Given the description of an element on the screen output the (x, y) to click on. 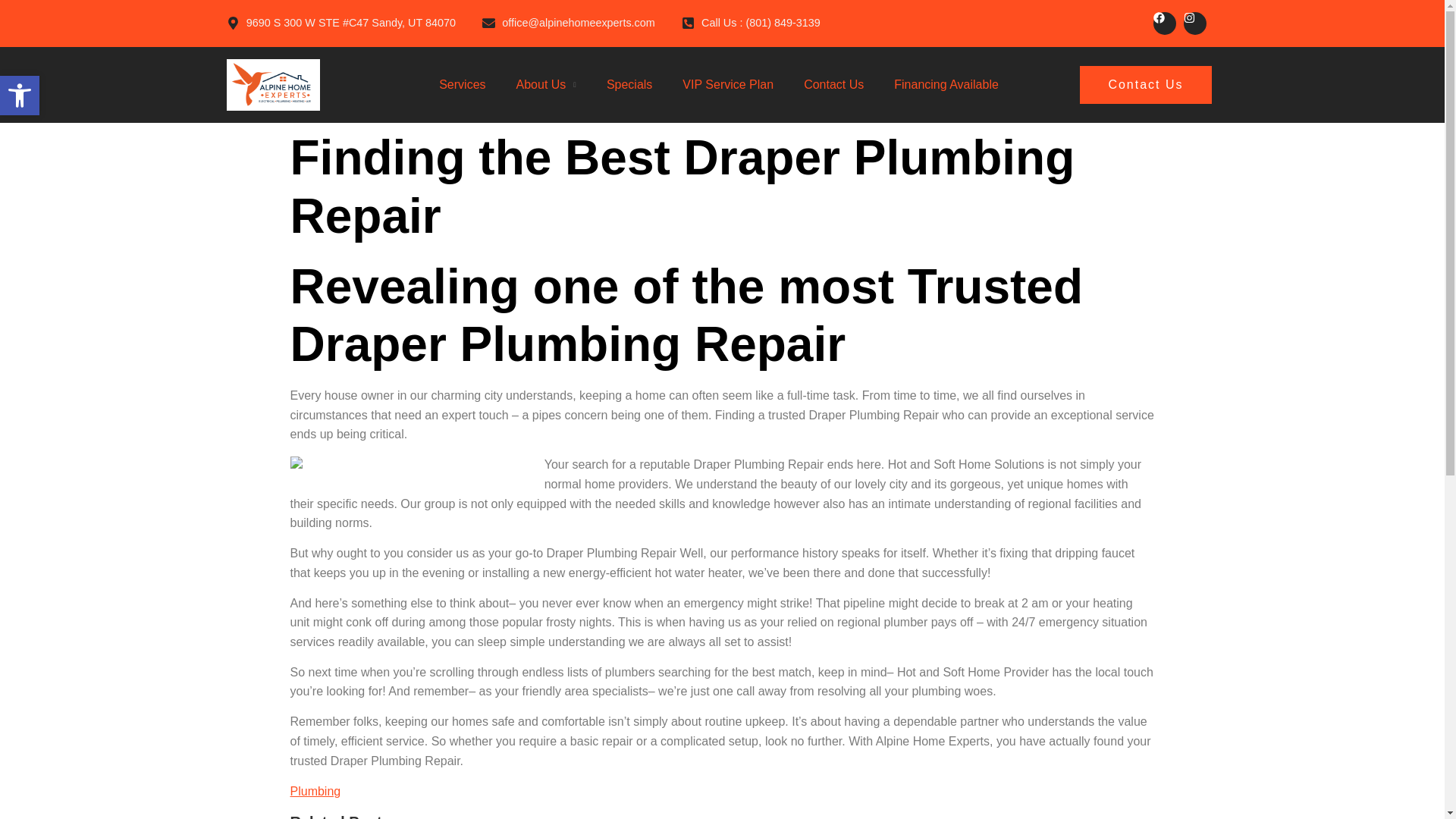
Services (461, 85)
Accessibility Tools (19, 95)
Specials (629, 85)
Contact Us (1145, 85)
Accessibility Tools (19, 95)
Plumbing (314, 790)
About Us (19, 95)
Financing Available (541, 85)
VIP Service Plan (945, 85)
